Given the description of an element on the screen output the (x, y) to click on. 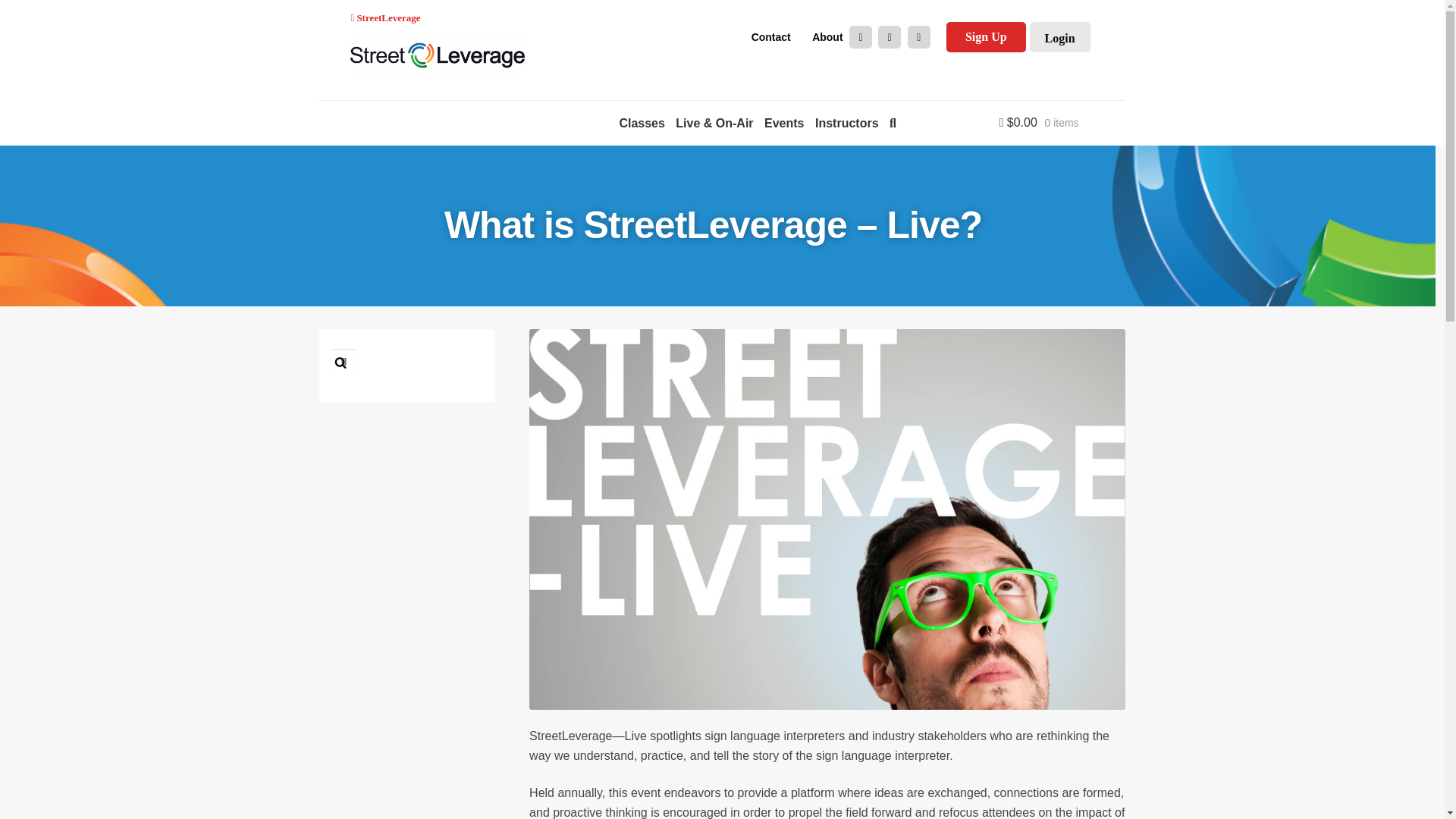
Login (1059, 37)
View your shopping cart (1013, 122)
StreetLeverage (385, 17)
Instructors (846, 123)
Contact (770, 37)
Events (784, 123)
Sign Up (986, 37)
About (827, 37)
Classes (641, 123)
